Given the description of an element on the screen output the (x, y) to click on. 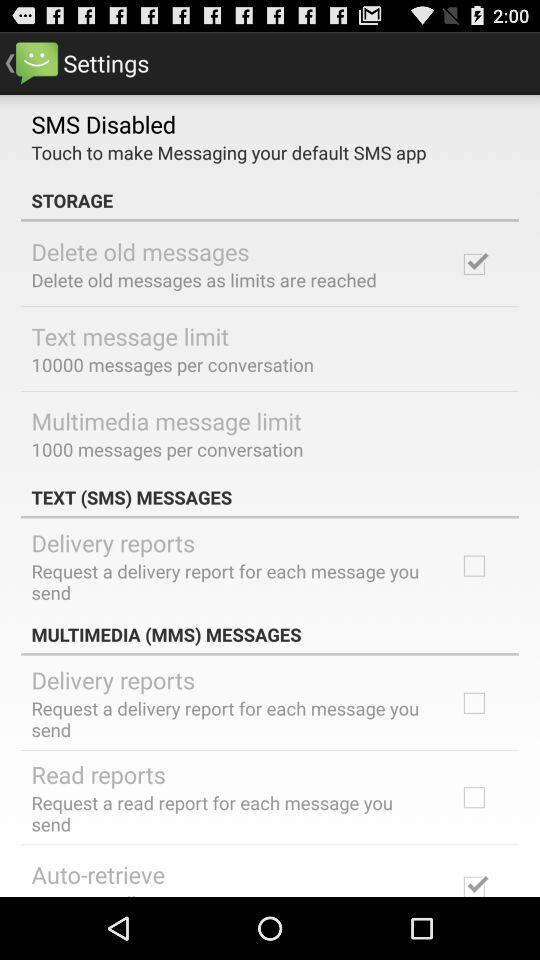
tap item below request a read (97, 874)
